Given the description of an element on the screen output the (x, y) to click on. 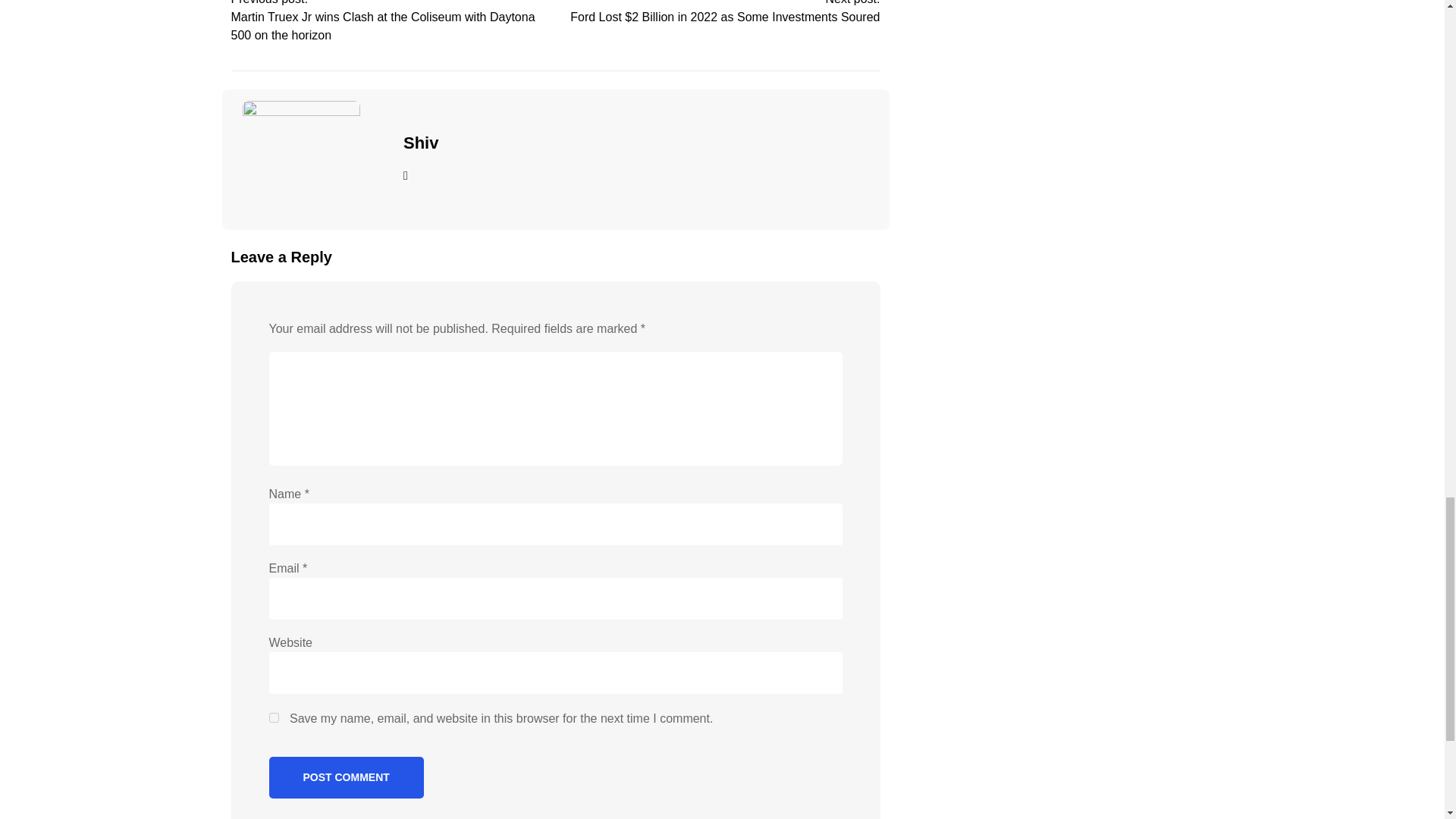
yes (272, 717)
Shiv (420, 143)
Post Comment (345, 777)
Post Comment (345, 777)
